Given the description of an element on the screen output the (x, y) to click on. 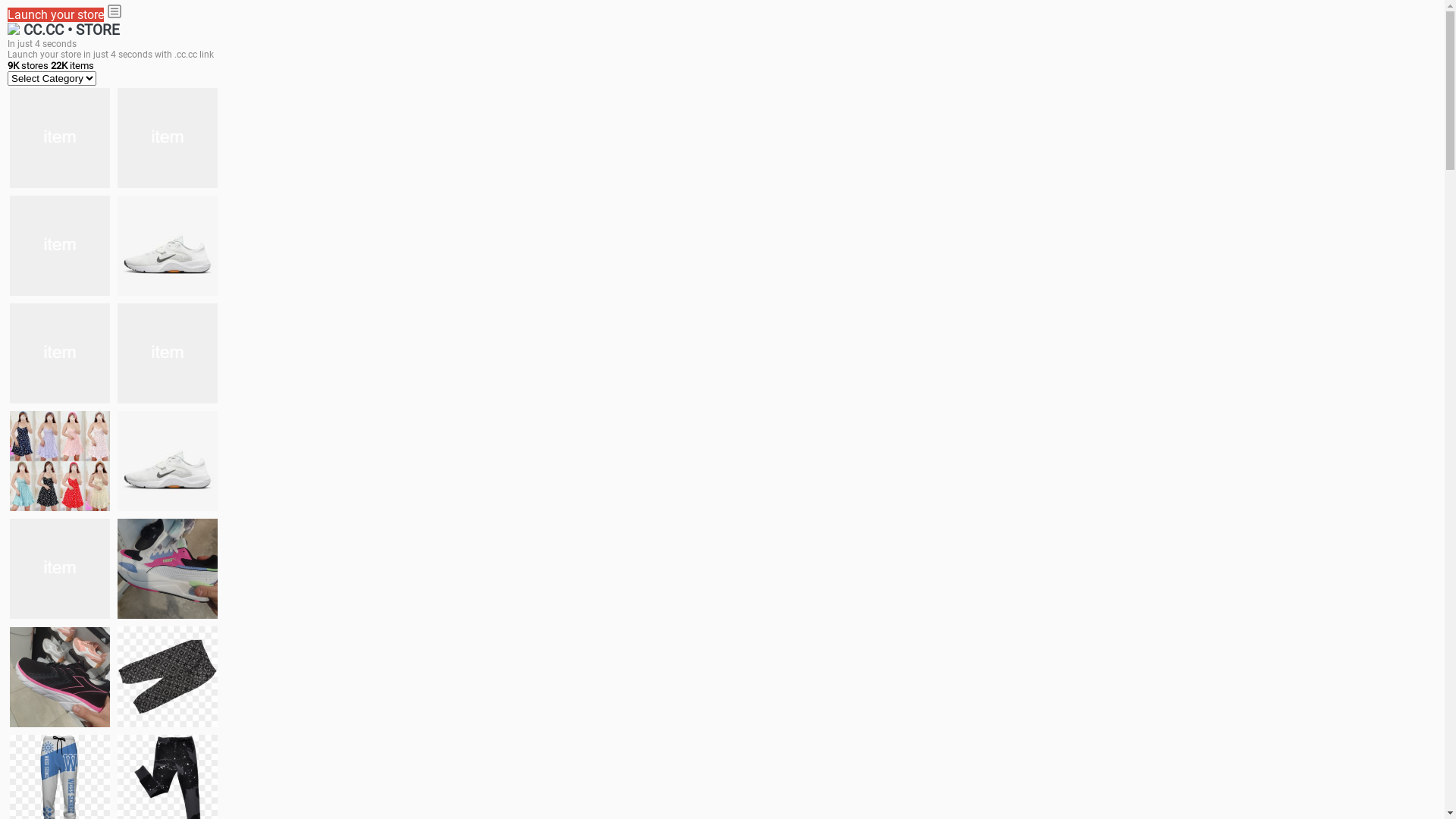
Things we need Element type: hover (59, 353)
Zapatillas Element type: hover (59, 676)
Dress/square nect top Element type: hover (59, 461)
Shoes for boys Element type: hover (167, 245)
Shoes Element type: hover (167, 461)
Launch your store Element type: text (55, 14)
Short pant Element type: hover (167, 676)
Ukay cloth Element type: hover (167, 353)
jacket Element type: hover (59, 137)
white shoes Element type: hover (167, 137)
shoes for boys Element type: hover (59, 245)
Zapatillas pumas Element type: hover (167, 568)
